Given the description of an element on the screen output the (x, y) to click on. 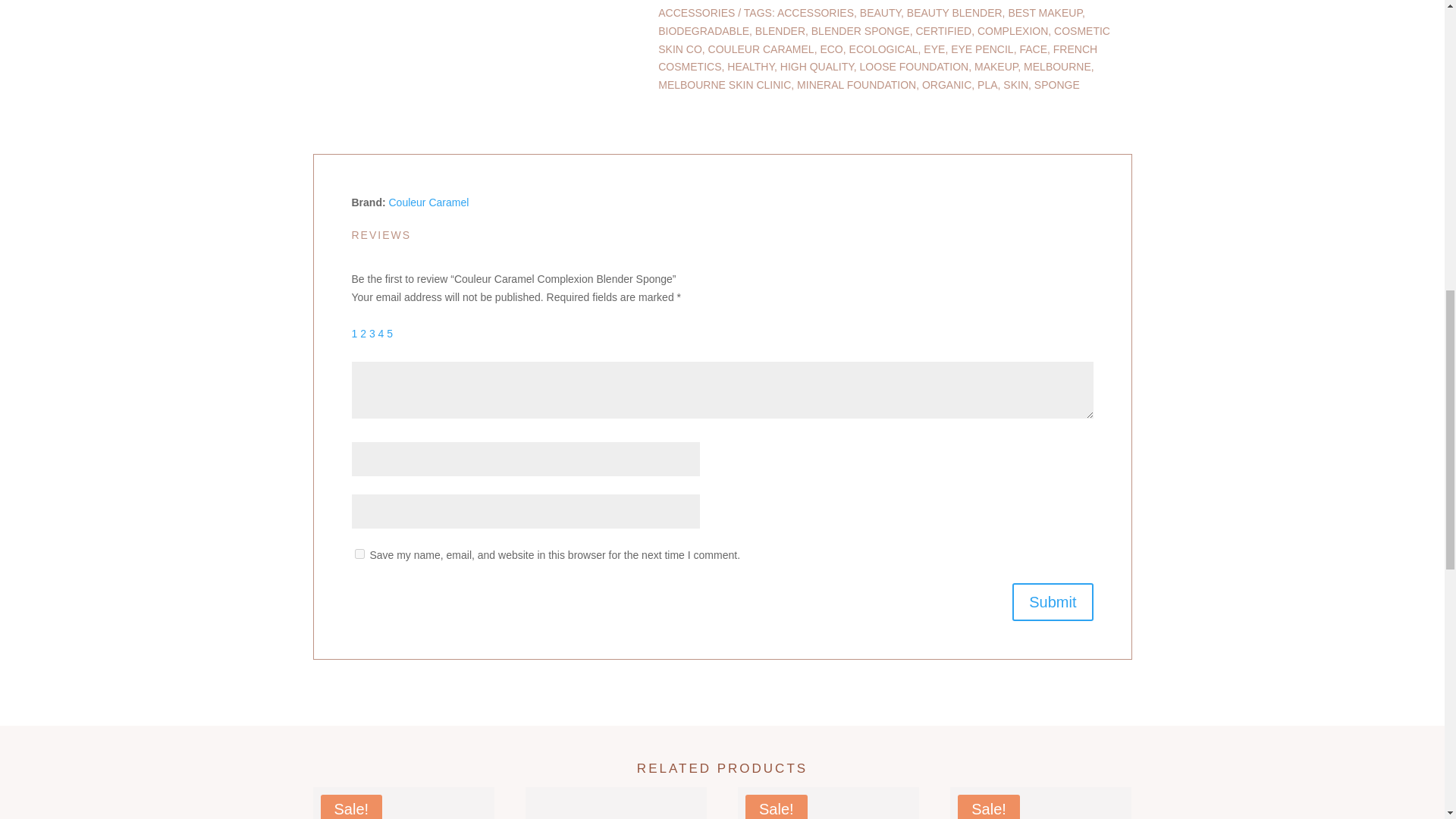
yes (360, 553)
